Given the description of an element on the screen output the (x, y) to click on. 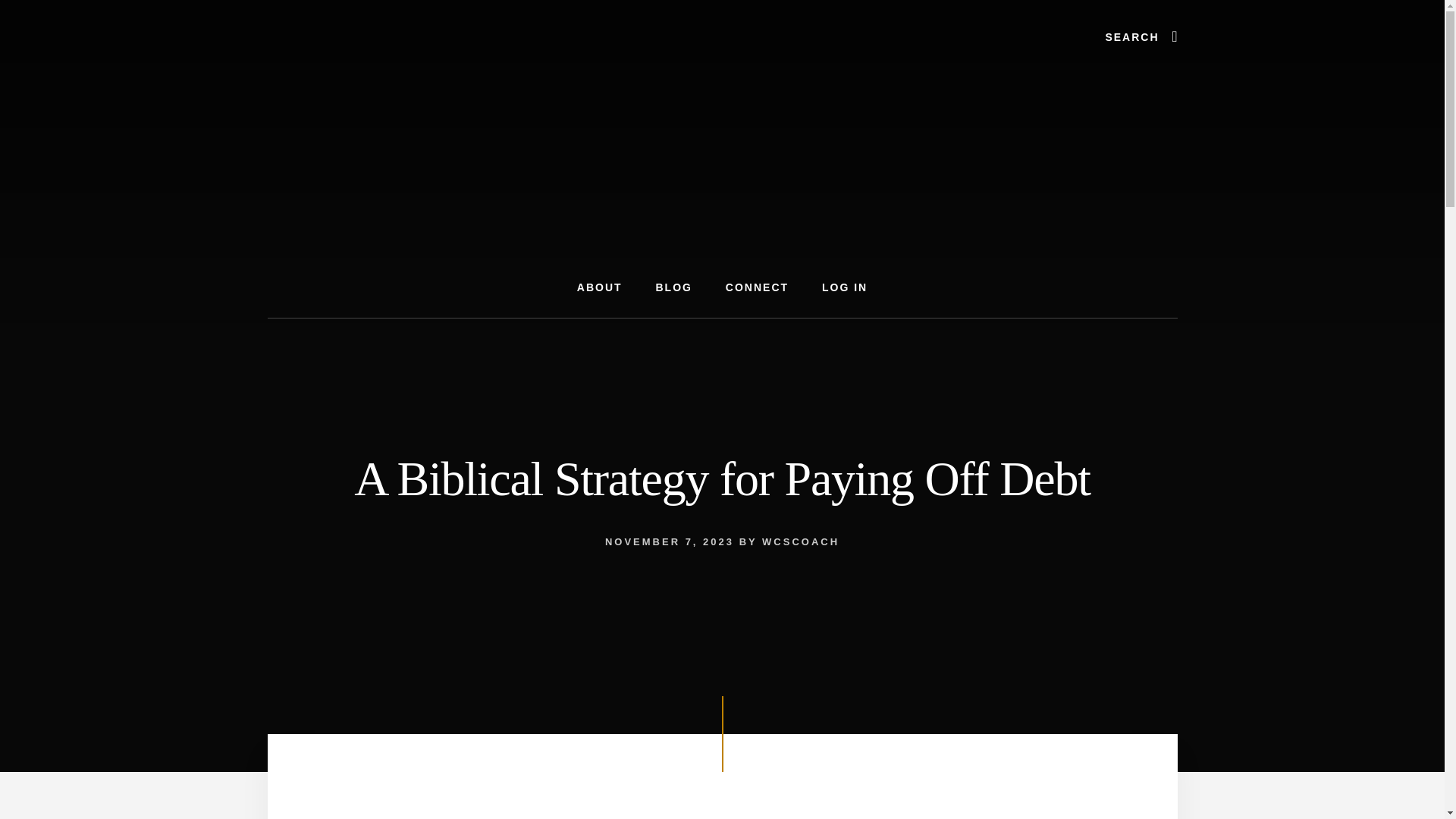
BLOG (673, 287)
ABOUT (599, 287)
LOG IN (844, 287)
CONNECT (756, 287)
WCSCOACH (800, 541)
